Given the description of an element on the screen output the (x, y) to click on. 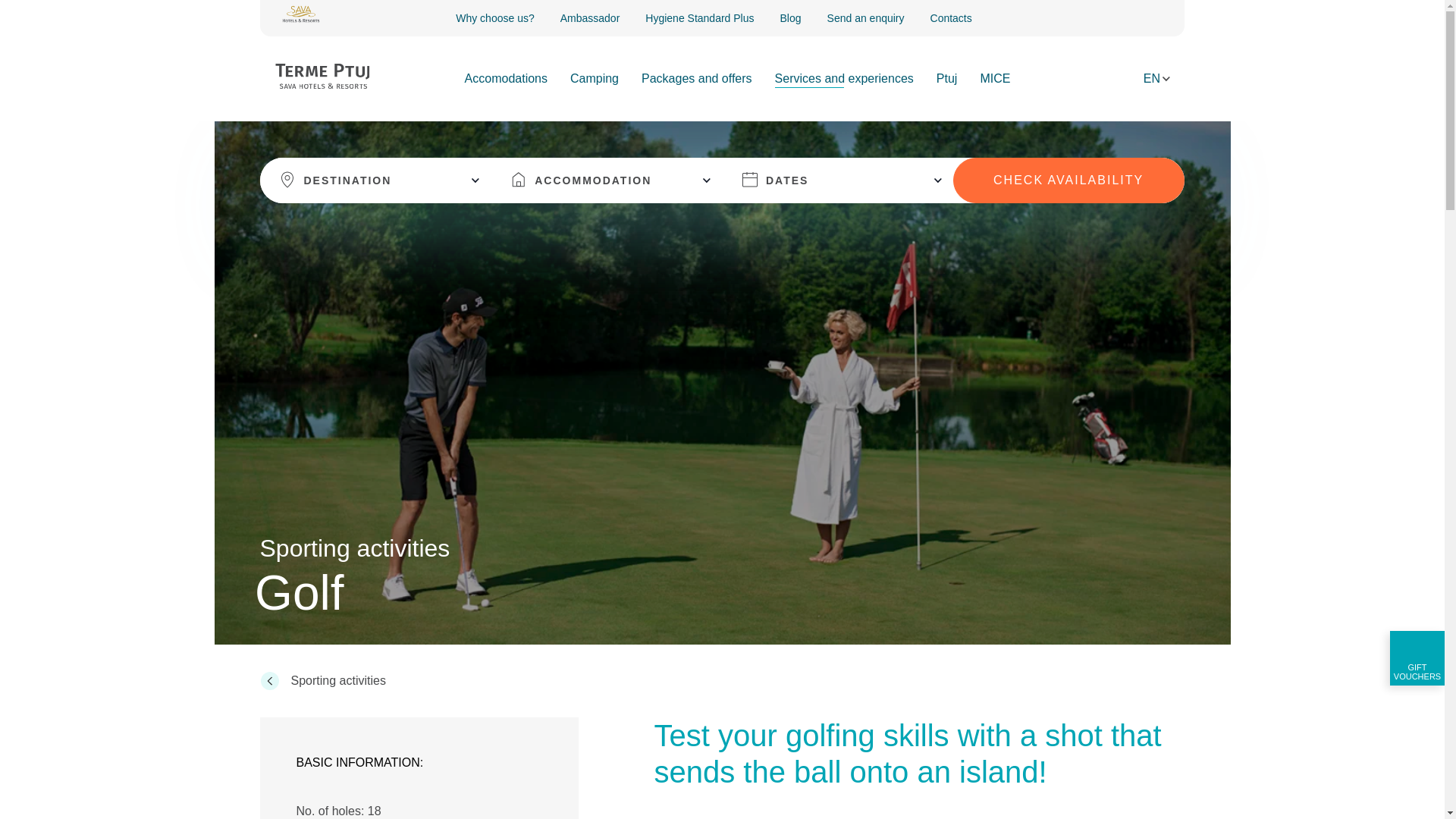
Services and experiences (844, 78)
Why choose us? (494, 18)
Accomodations (505, 78)
Ptuj (947, 78)
Camping (594, 78)
Contacts (951, 18)
Open search modal window (1118, 79)
Send an enquiry (865, 18)
Blog (791, 18)
Ambassador (590, 18)
